Given the description of an element on the screen output the (x, y) to click on. 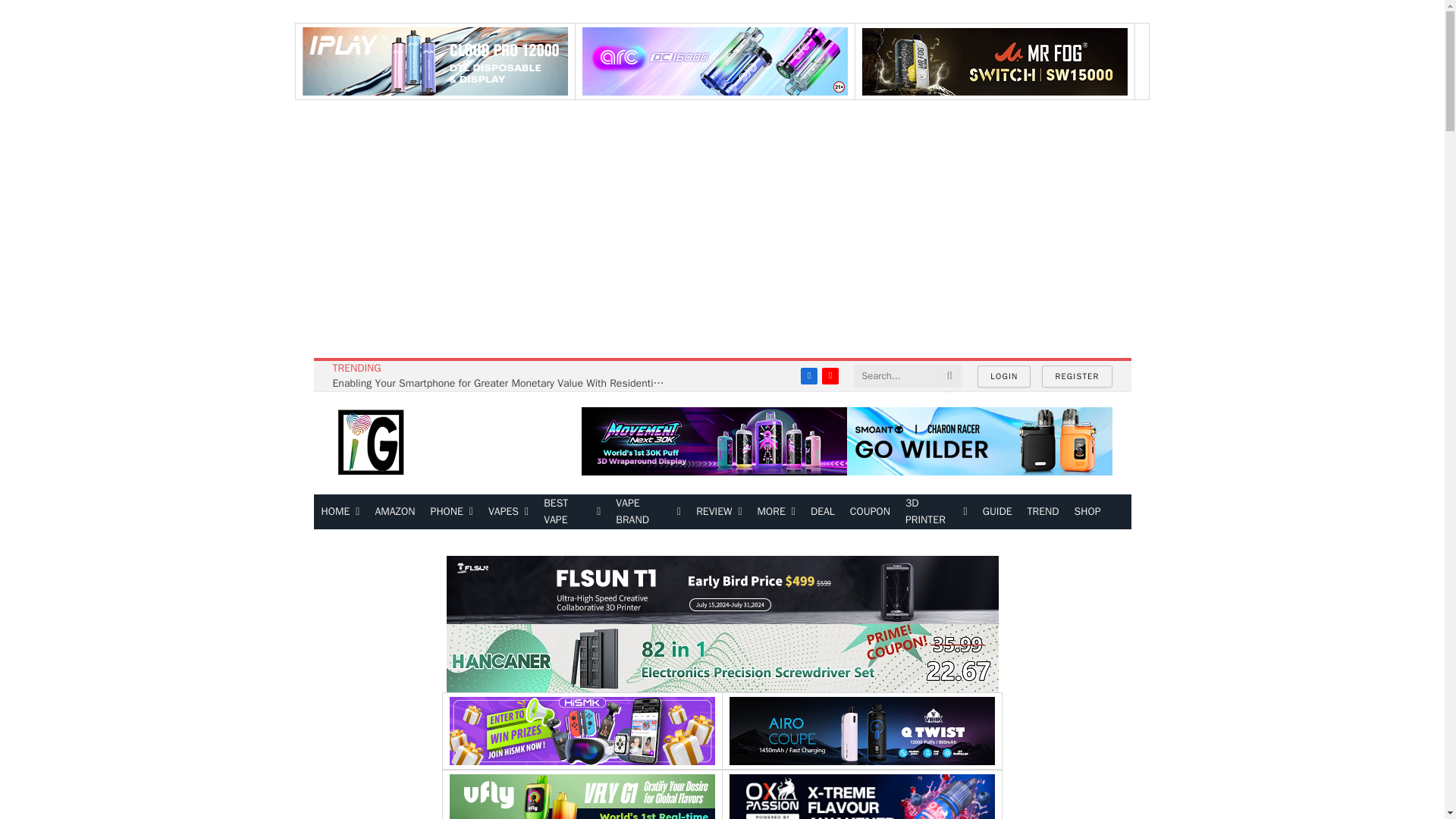
LOGIN (1003, 376)
Facebook (808, 375)
HOME (341, 511)
PHONE (451, 511)
REGISTER (1077, 376)
AMAZON (394, 511)
YouTube (830, 375)
